Given the description of an element on the screen output the (x, y) to click on. 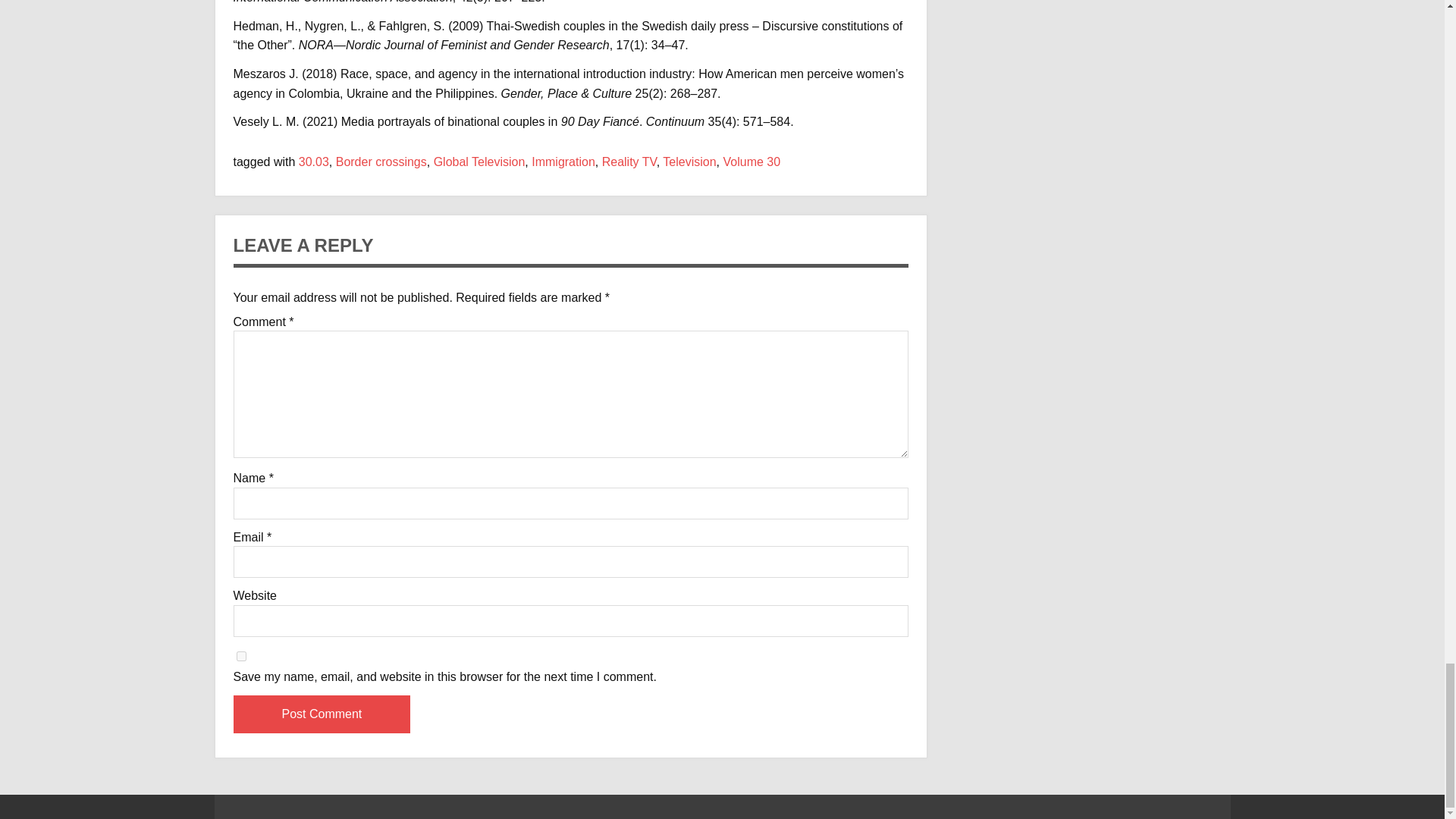
Reality TV (629, 161)
Global Television (479, 161)
Immigration (563, 161)
Volume 30 (751, 161)
30.03 (313, 161)
Post Comment (321, 714)
Television (689, 161)
Border crossings (381, 161)
yes (240, 655)
Post Comment (321, 714)
